Given the description of an element on the screen output the (x, y) to click on. 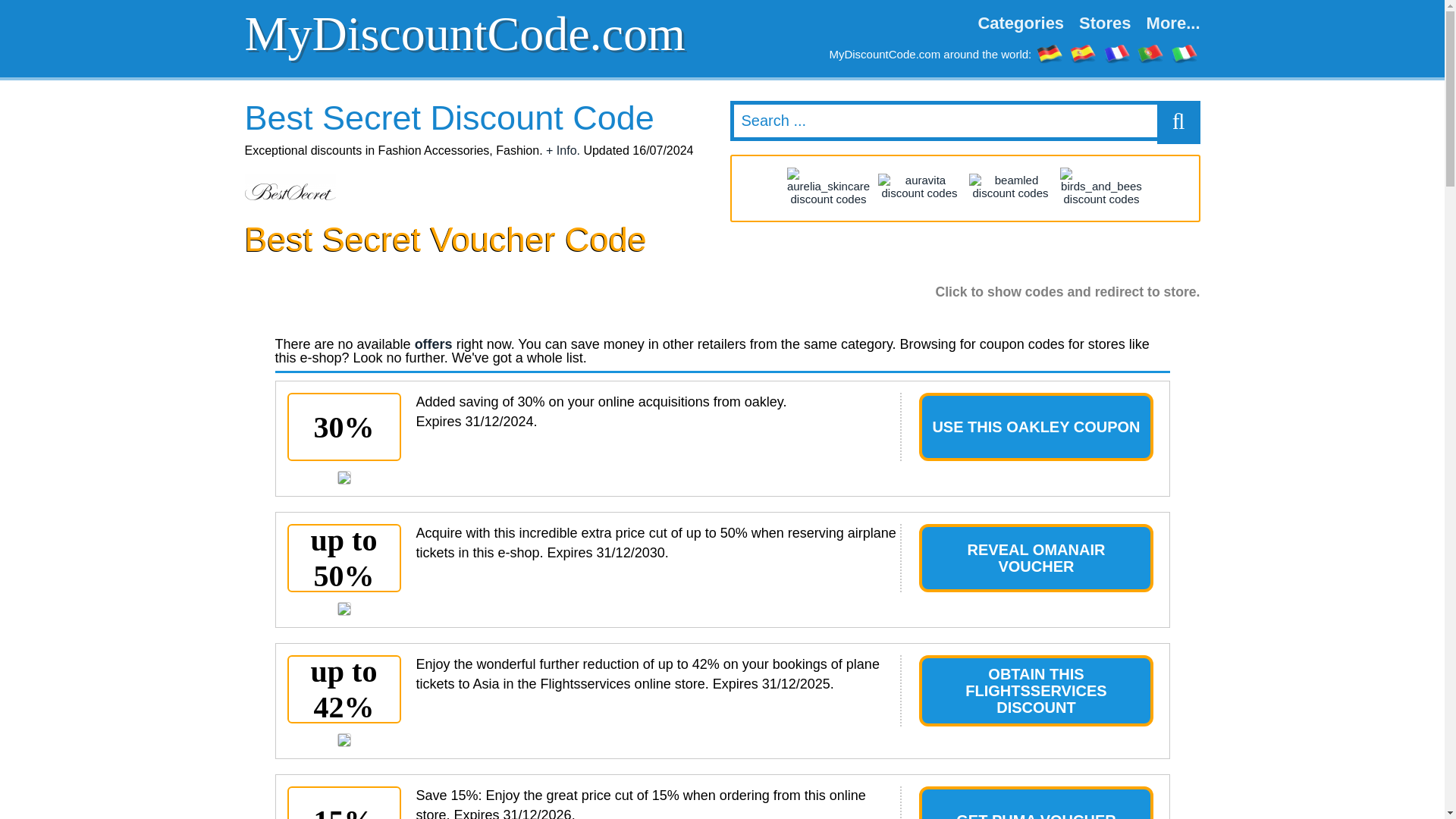
gutscheincodes (1050, 52)
Stores (1104, 23)
Use this oakley coupon  (343, 477)
REVEAL OMANAIR VOUCHER (1036, 558)
OBTAIN THIS FLIGHTSSERVICES DISCOUNT (1036, 690)
MyDiscountCode.com (479, 33)
Obtain this Flightsservices discount  (343, 739)
Reveal Omanair voucher  (343, 608)
More... (1168, 23)
Categories (1020, 23)
